Given the description of an element on the screen output the (x, y) to click on. 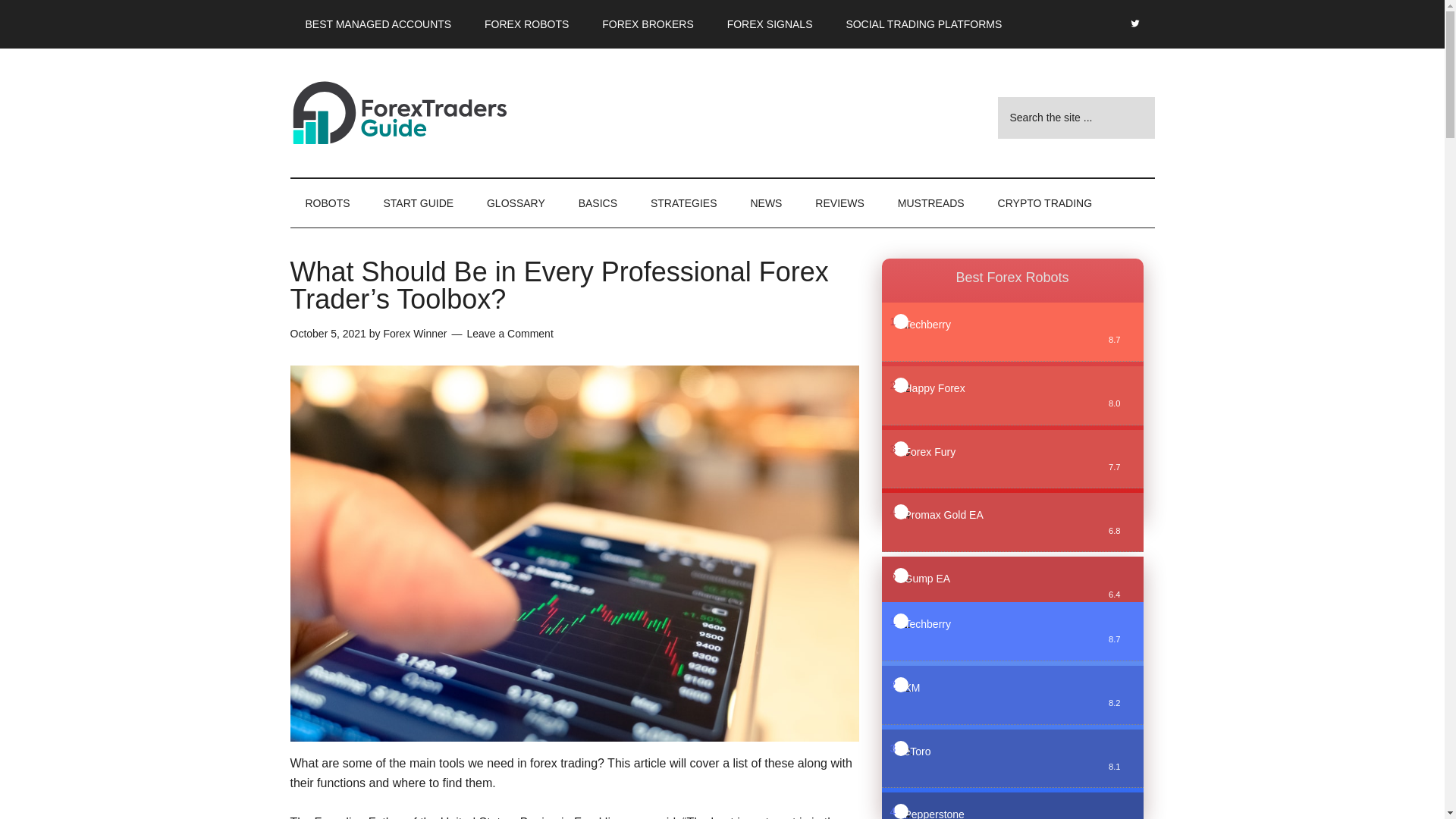
Forex Winner (414, 333)
SOCIAL TRADING PLATFORMS (922, 24)
BASICS (597, 203)
NEWS (765, 203)
ROBOTS (327, 203)
STRATEGIES (683, 203)
REVIEWS (839, 203)
MUSTREADS (930, 203)
